Given the description of an element on the screen output the (x, y) to click on. 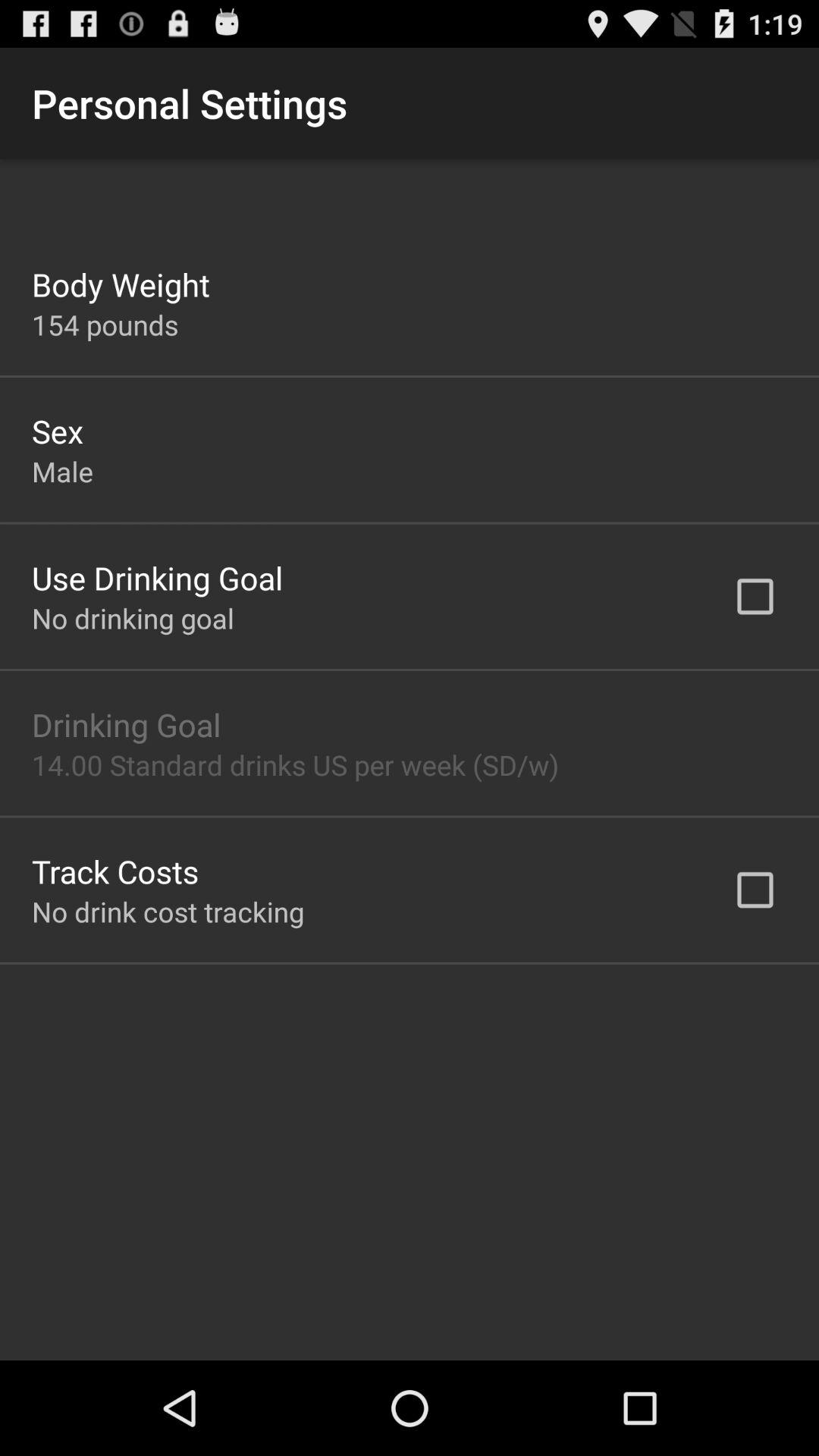
scroll until the body weight (120, 283)
